Given the description of an element on the screen output the (x, y) to click on. 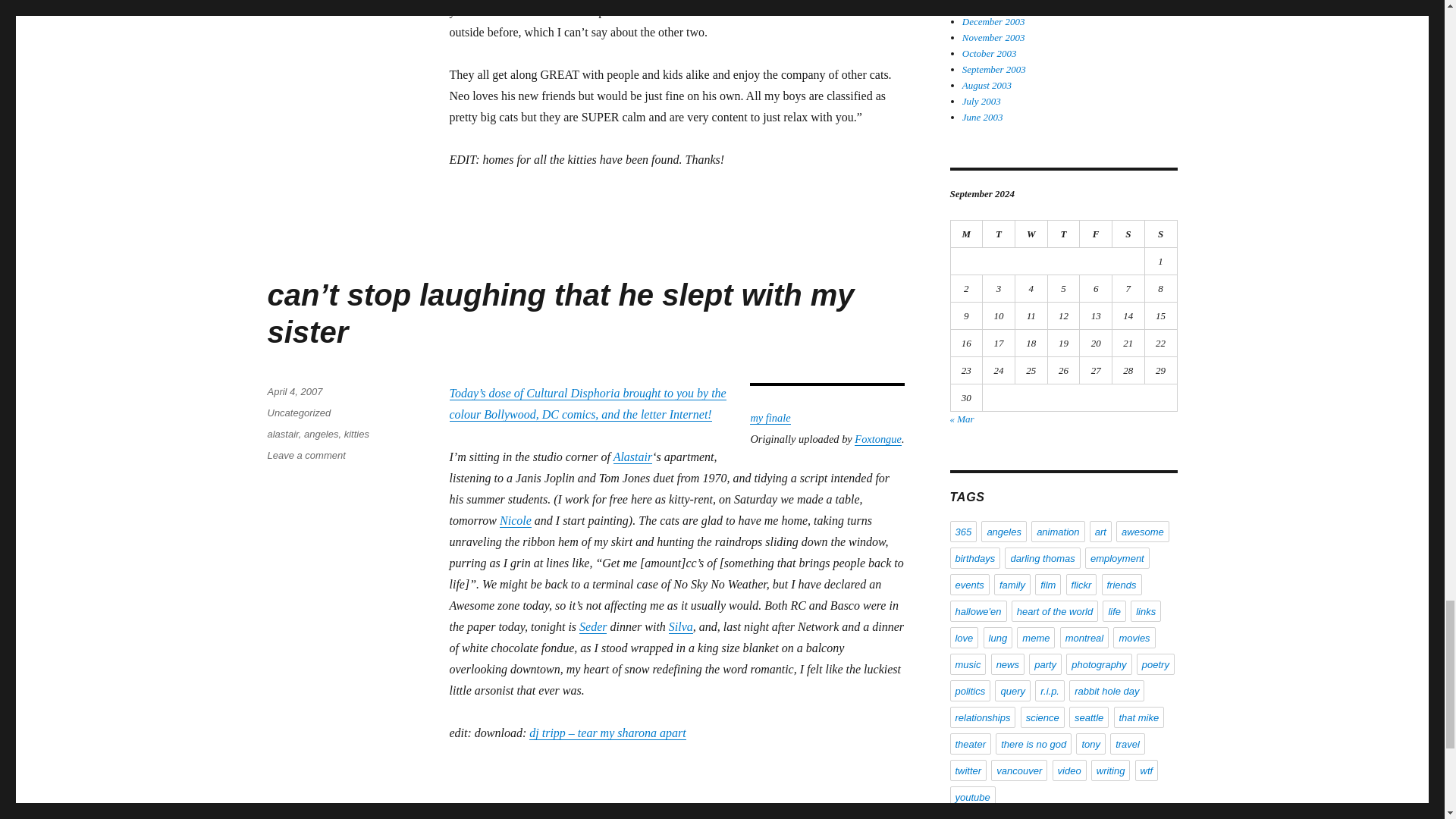
Friday (1096, 234)
Saturday (1128, 234)
Wednesday (1031, 234)
Monday (967, 234)
photo sharing (826, 392)
Photo Sharing (866, 18)
Tuesday (998, 234)
Thursday (1064, 234)
